Given the description of an element on the screen output the (x, y) to click on. 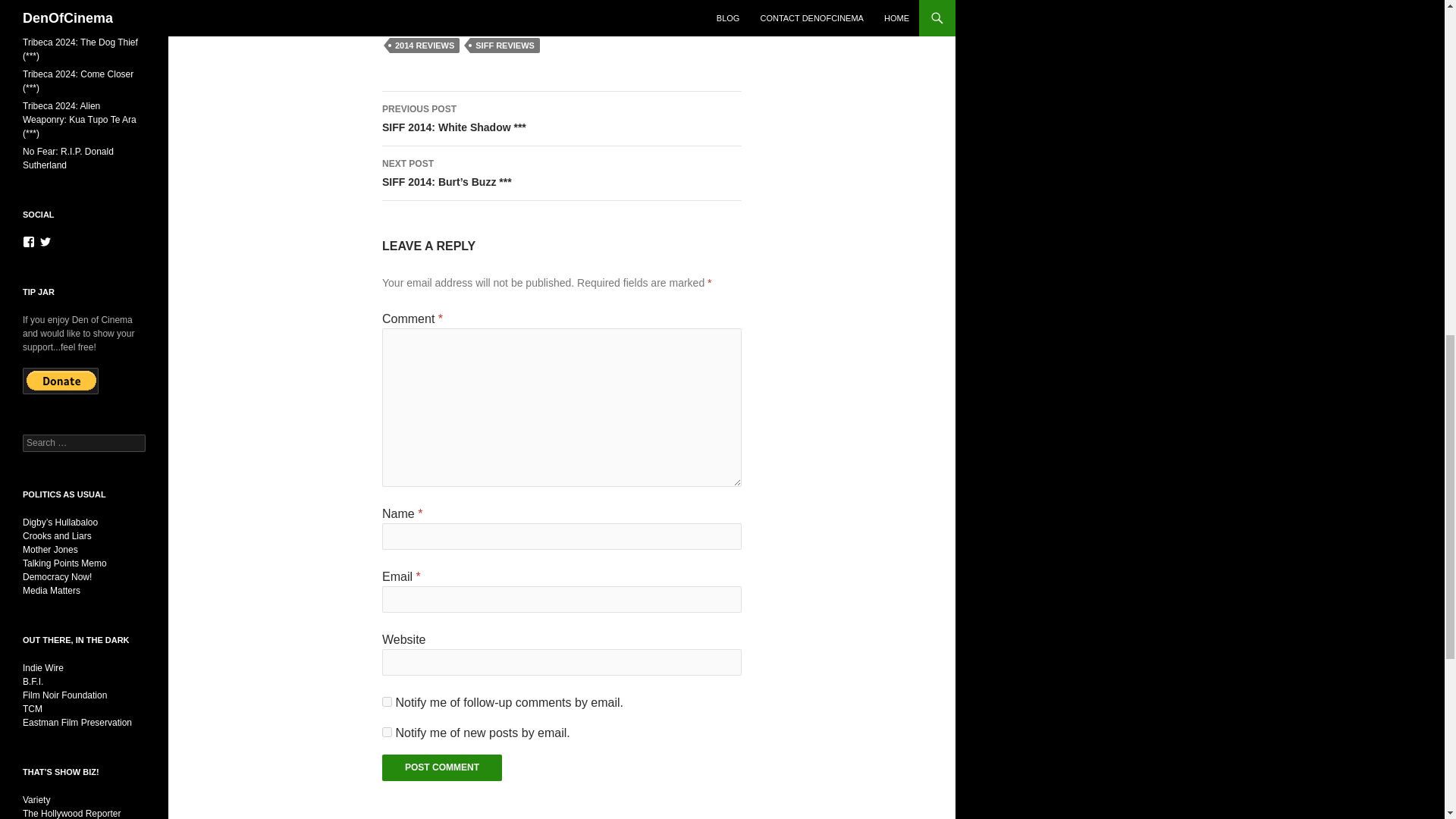
2014 REVIEWS (425, 45)
subscribe (386, 701)
SIFF REVIEWS (505, 45)
Post Comment (441, 767)
Post Comment (441, 767)
subscribe (386, 732)
